Given the description of an element on the screen output the (x, y) to click on. 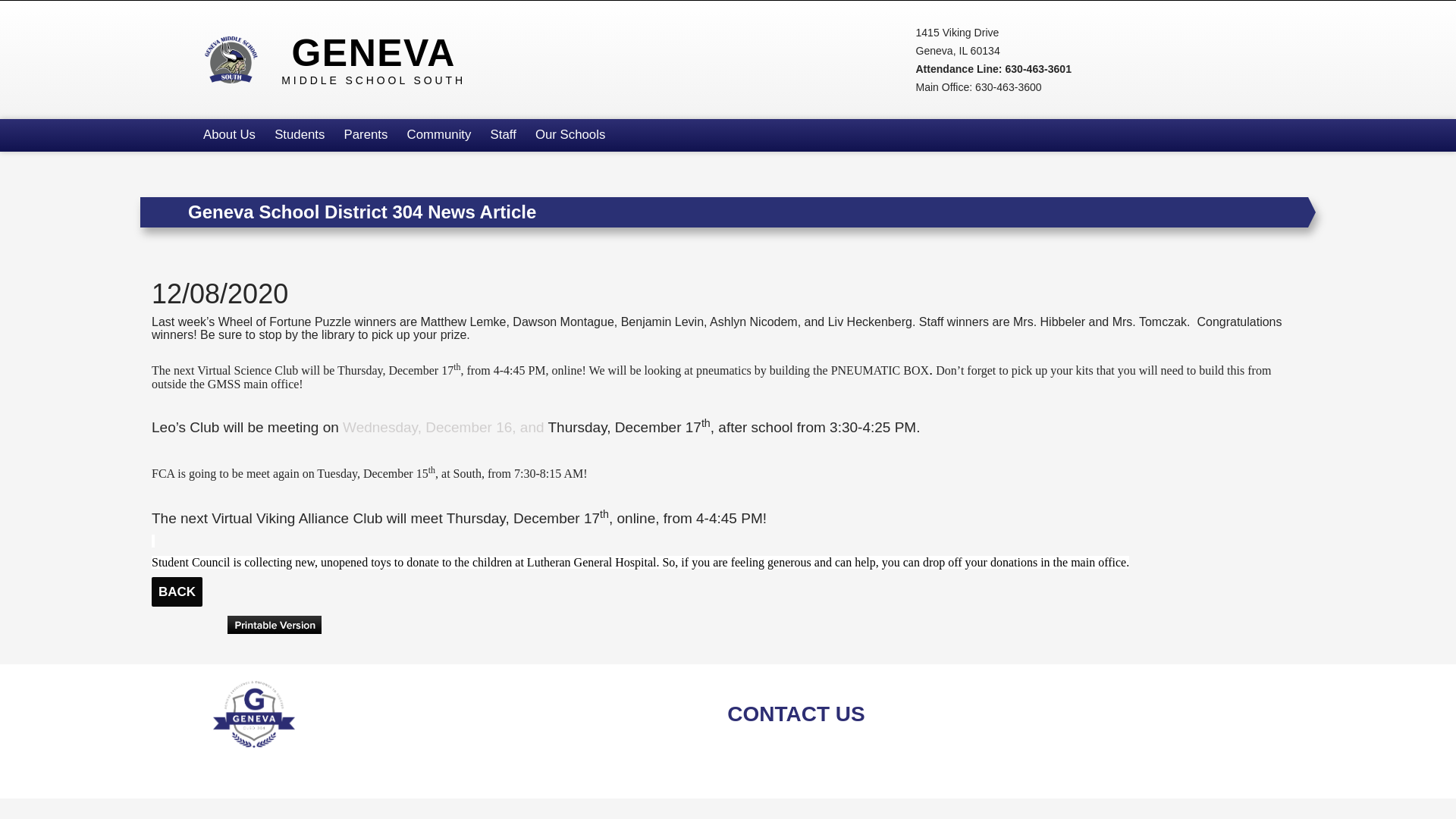
Students (299, 135)
About Us (342, 59)
